Given the description of an element on the screen output the (x, y) to click on. 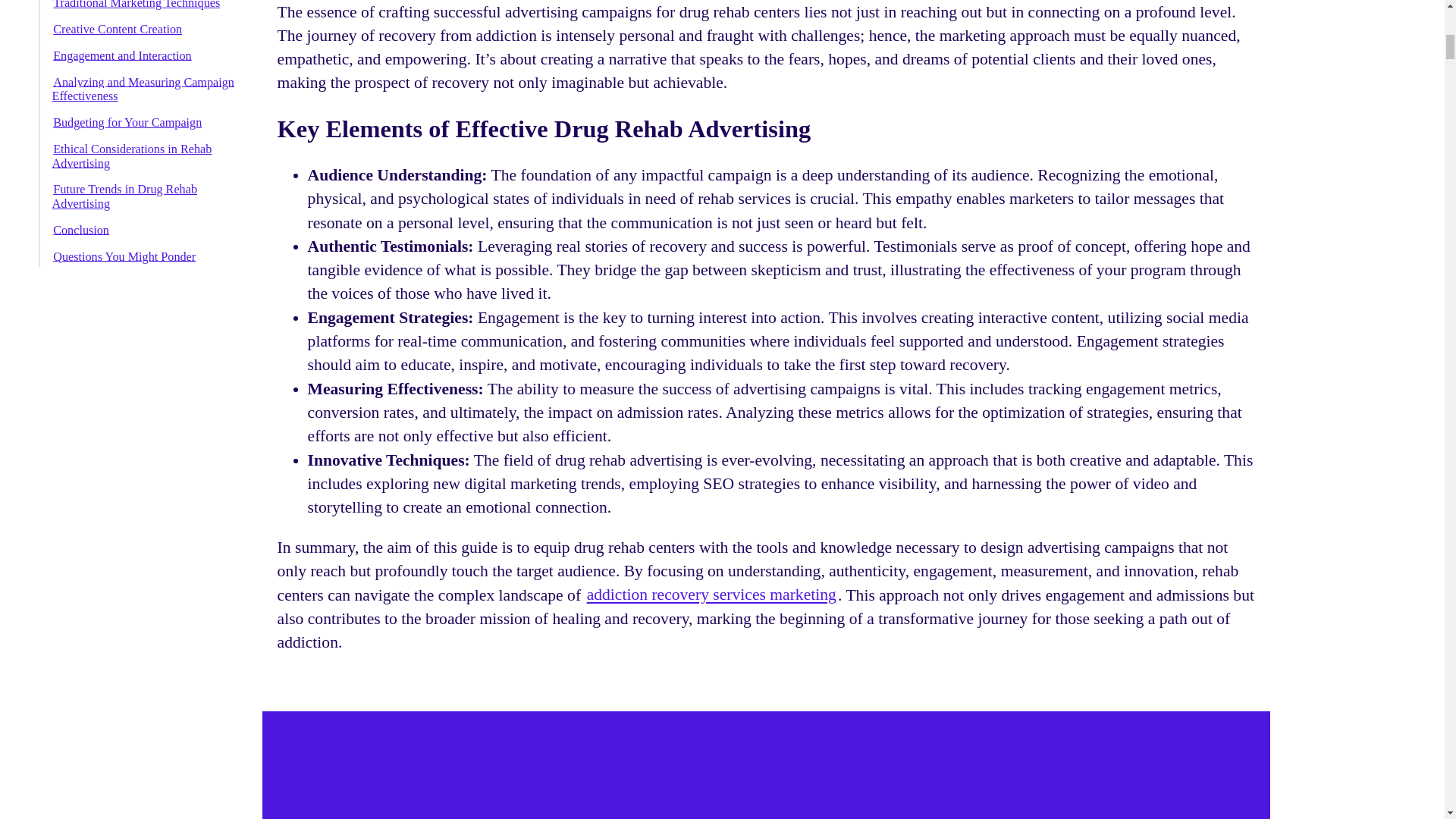
Ethical Considerations in Rehab Advertising (132, 155)
Traditional Marketing Techniques (136, 5)
Creative Content Creation (117, 28)
Conclusion (81, 229)
Engagement and Interaction (122, 55)
Budgeting for Your Campaign (127, 122)
Analyzing and Measuring Campaign Effectiveness (143, 89)
Future Trends in Drug Rehab Advertising (124, 195)
addiction recovery services marketing (711, 594)
Questions You Might Ponder (124, 256)
